Given the description of an element on the screen output the (x, y) to click on. 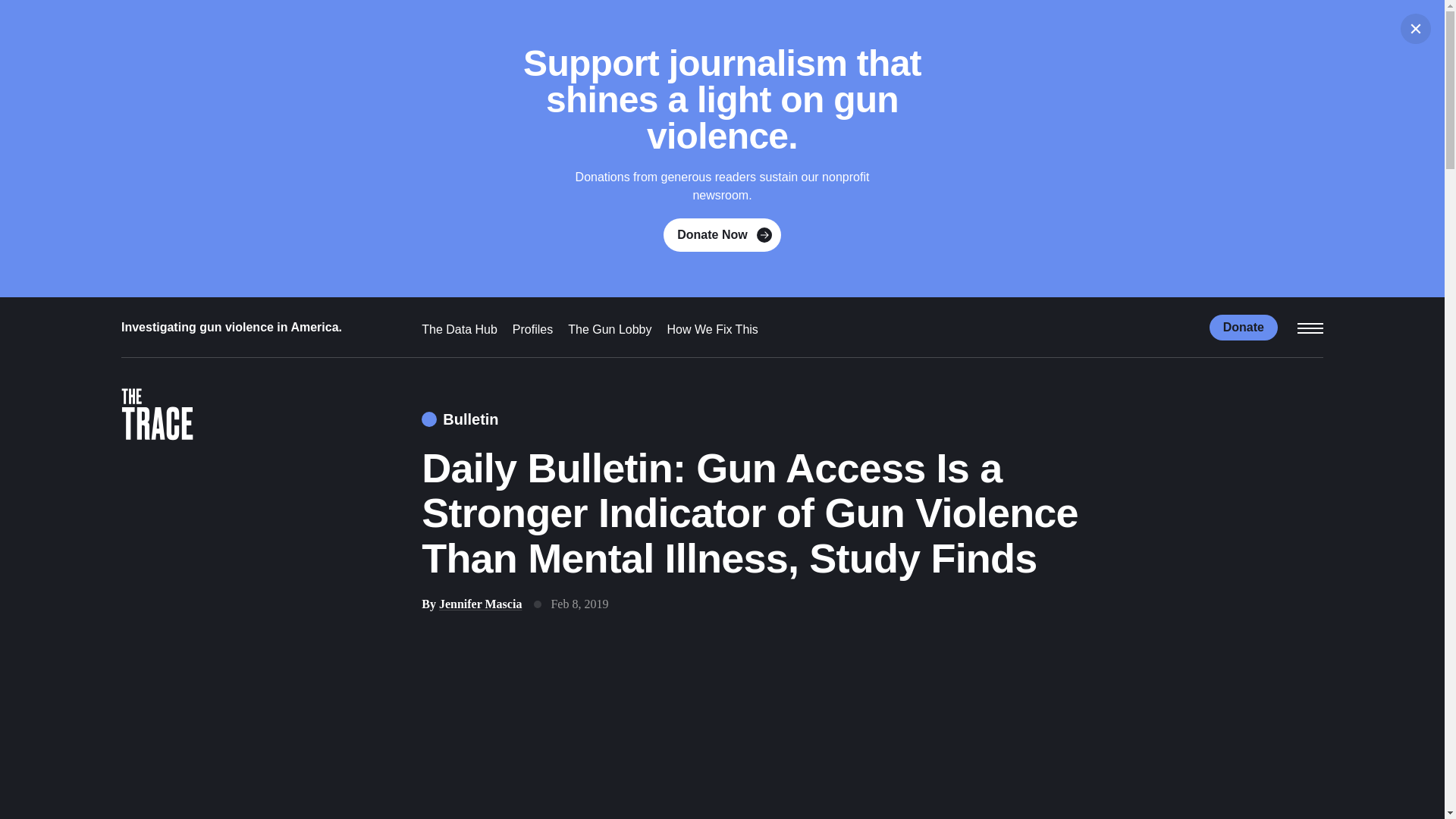
Donate (1243, 326)
The Gun Lobby (608, 328)
Profiles (532, 328)
How We Fix This (712, 328)
The Data Hub (459, 328)
Close (1415, 28)
The Trace (156, 417)
Jennifer Mascia (480, 603)
Donate Now (721, 234)
Bulletin (459, 419)
